Given the description of an element on the screen output the (x, y) to click on. 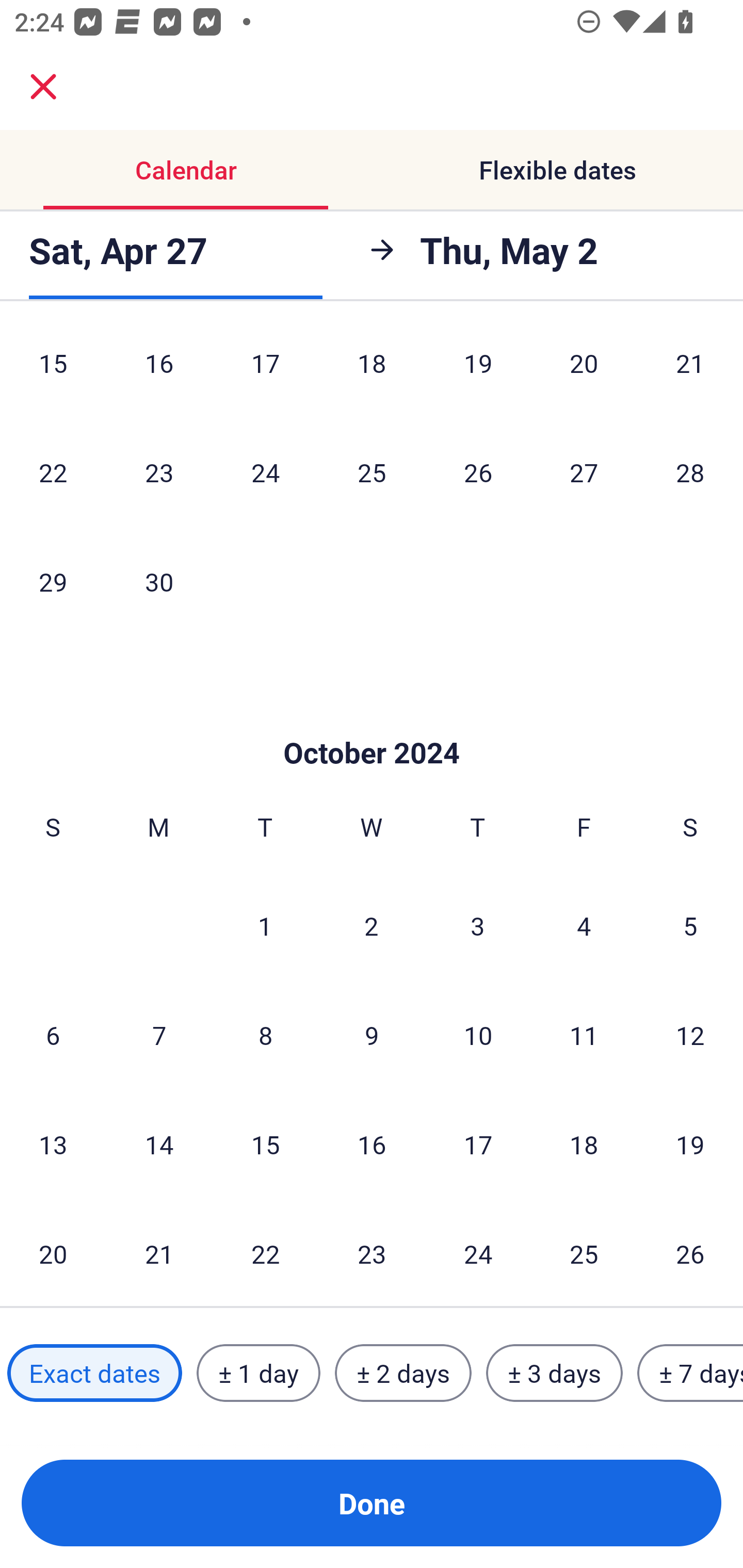
close. (43, 86)
Flexible dates (557, 170)
15 Sunday, September 15, 2024 (53, 372)
16 Monday, September 16, 2024 (159, 372)
17 Tuesday, September 17, 2024 (265, 372)
18 Wednesday, September 18, 2024 (371, 372)
19 Thursday, September 19, 2024 (477, 372)
20 Friday, September 20, 2024 (584, 372)
21 Saturday, September 21, 2024 (690, 372)
22 Sunday, September 22, 2024 (53, 471)
23 Monday, September 23, 2024 (159, 471)
24 Tuesday, September 24, 2024 (265, 471)
25 Wednesday, September 25, 2024 (371, 471)
26 Thursday, September 26, 2024 (477, 471)
27 Friday, September 27, 2024 (584, 471)
28 Saturday, September 28, 2024 (690, 471)
29 Sunday, September 29, 2024 (53, 581)
30 Monday, September 30, 2024 (159, 581)
Skip to Done (371, 721)
1 Tuesday, October 1, 2024 (264, 925)
2 Wednesday, October 2, 2024 (371, 925)
3 Thursday, October 3, 2024 (477, 925)
4 Friday, October 4, 2024 (584, 925)
5 Saturday, October 5, 2024 (690, 925)
6 Sunday, October 6, 2024 (53, 1034)
7 Monday, October 7, 2024 (159, 1034)
8 Tuesday, October 8, 2024 (265, 1034)
9 Wednesday, October 9, 2024 (371, 1034)
10 Thursday, October 10, 2024 (477, 1034)
11 Friday, October 11, 2024 (584, 1034)
12 Saturday, October 12, 2024 (690, 1034)
13 Sunday, October 13, 2024 (53, 1143)
14 Monday, October 14, 2024 (159, 1143)
15 Tuesday, October 15, 2024 (265, 1143)
16 Wednesday, October 16, 2024 (371, 1143)
17 Thursday, October 17, 2024 (477, 1143)
18 Friday, October 18, 2024 (584, 1143)
19 Saturday, October 19, 2024 (690, 1143)
20 Sunday, October 20, 2024 (53, 1253)
21 Monday, October 21, 2024 (159, 1253)
22 Tuesday, October 22, 2024 (265, 1253)
23 Wednesday, October 23, 2024 (371, 1253)
24 Thursday, October 24, 2024 (477, 1253)
25 Friday, October 25, 2024 (584, 1253)
26 Saturday, October 26, 2024 (690, 1253)
Exact dates (94, 1372)
± 1 day (258, 1372)
± 2 days (403, 1372)
± 3 days (553, 1372)
± 7 days (690, 1372)
